Given the description of an element on the screen output the (x, y) to click on. 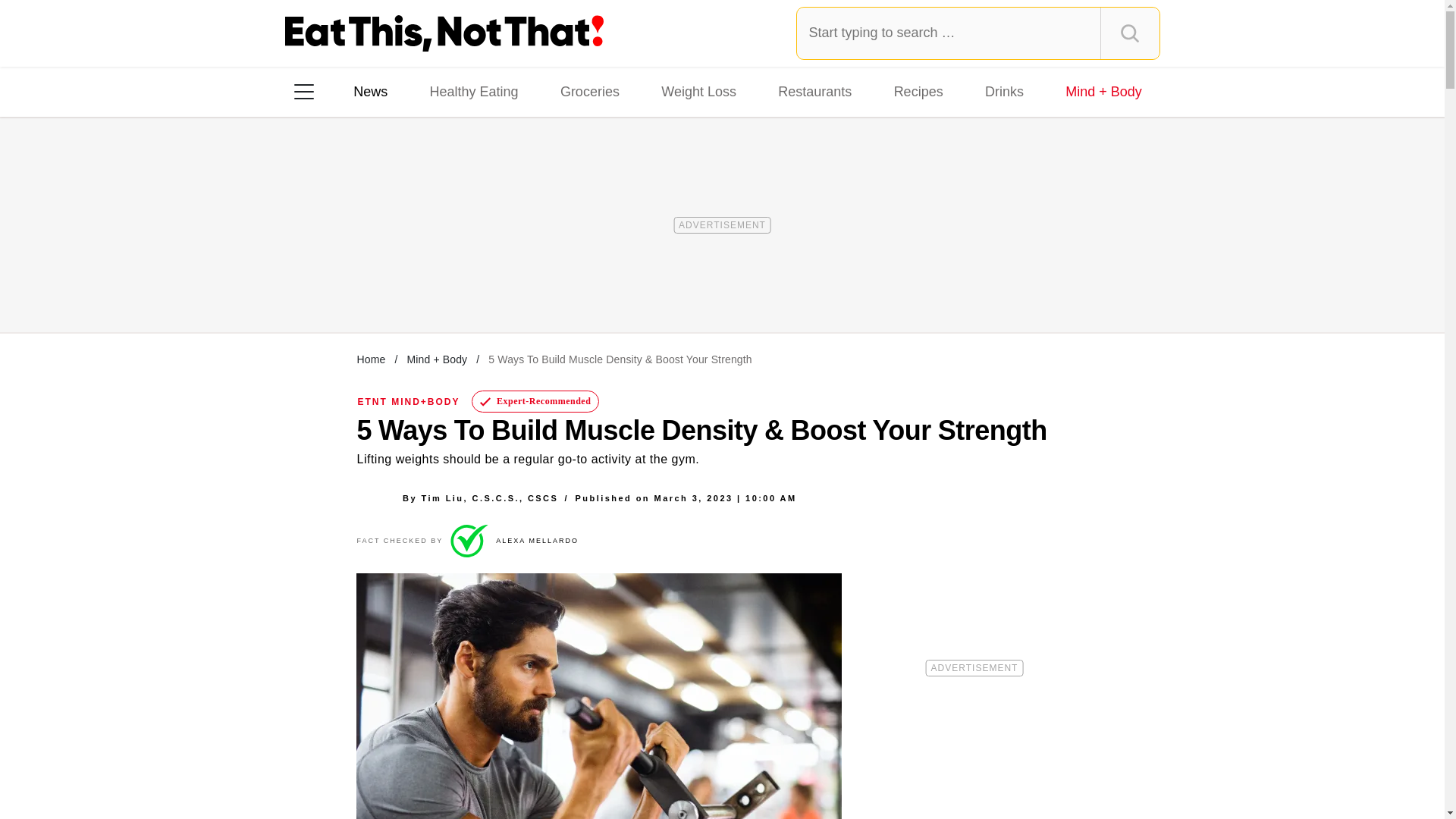
Facebook (314, 287)
TikTok (399, 287)
News (370, 91)
Instagram (357, 287)
Drinks (1003, 91)
Groceries (590, 91)
Weight Loss (698, 91)
Instagram (357, 287)
TikTok (399, 287)
Home (370, 358)
